Given the description of an element on the screen output the (x, y) to click on. 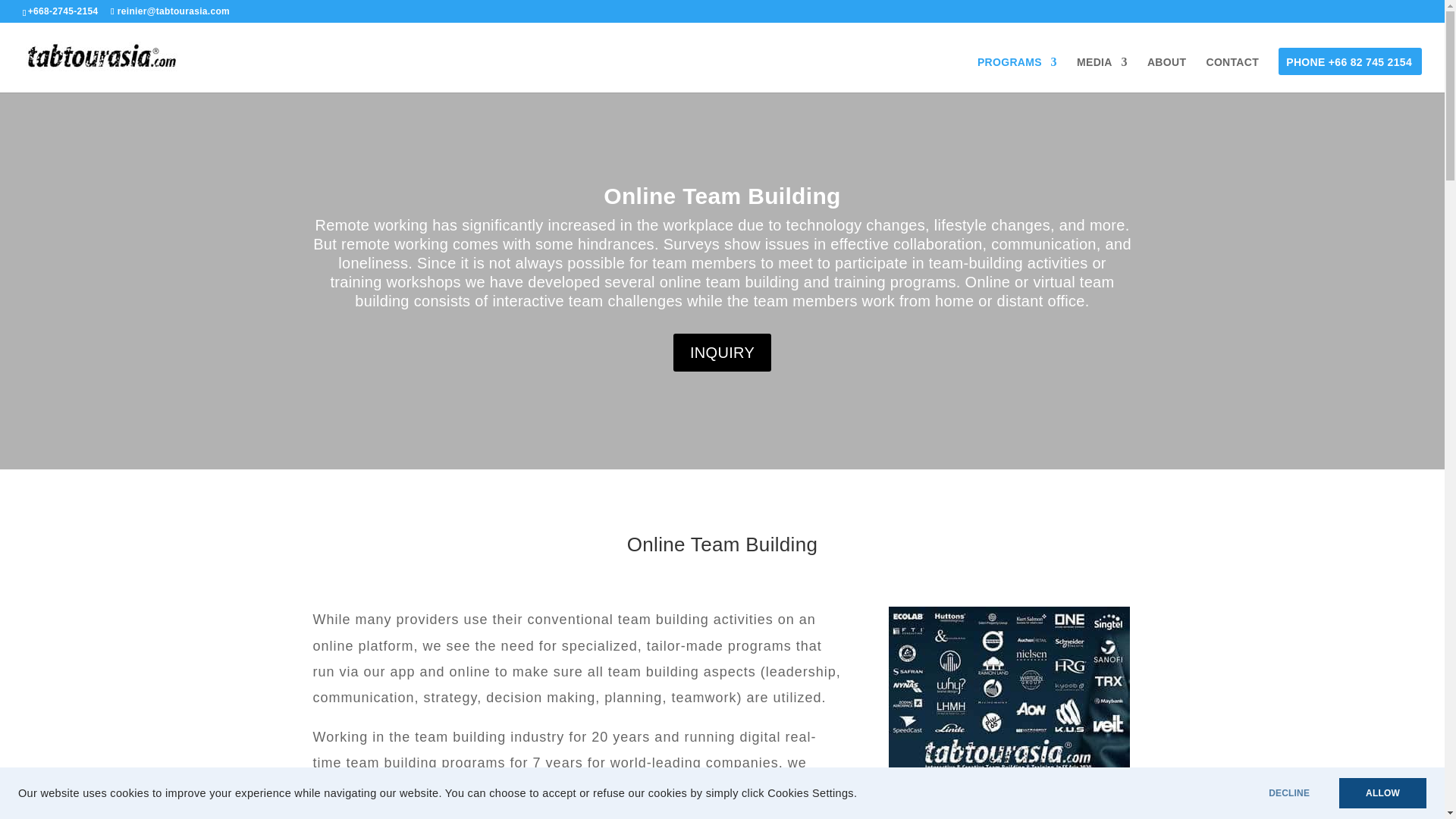
tabtour-overview-logo-only-1-resized (1008, 712)
INQUIRY (721, 352)
CONTACT (1232, 74)
DECLINE (1288, 793)
ALLOW (1382, 793)
PROGRAMS (1016, 74)
MEDIA (1101, 74)
ABOUT (1166, 74)
